Given the description of an element on the screen output the (x, y) to click on. 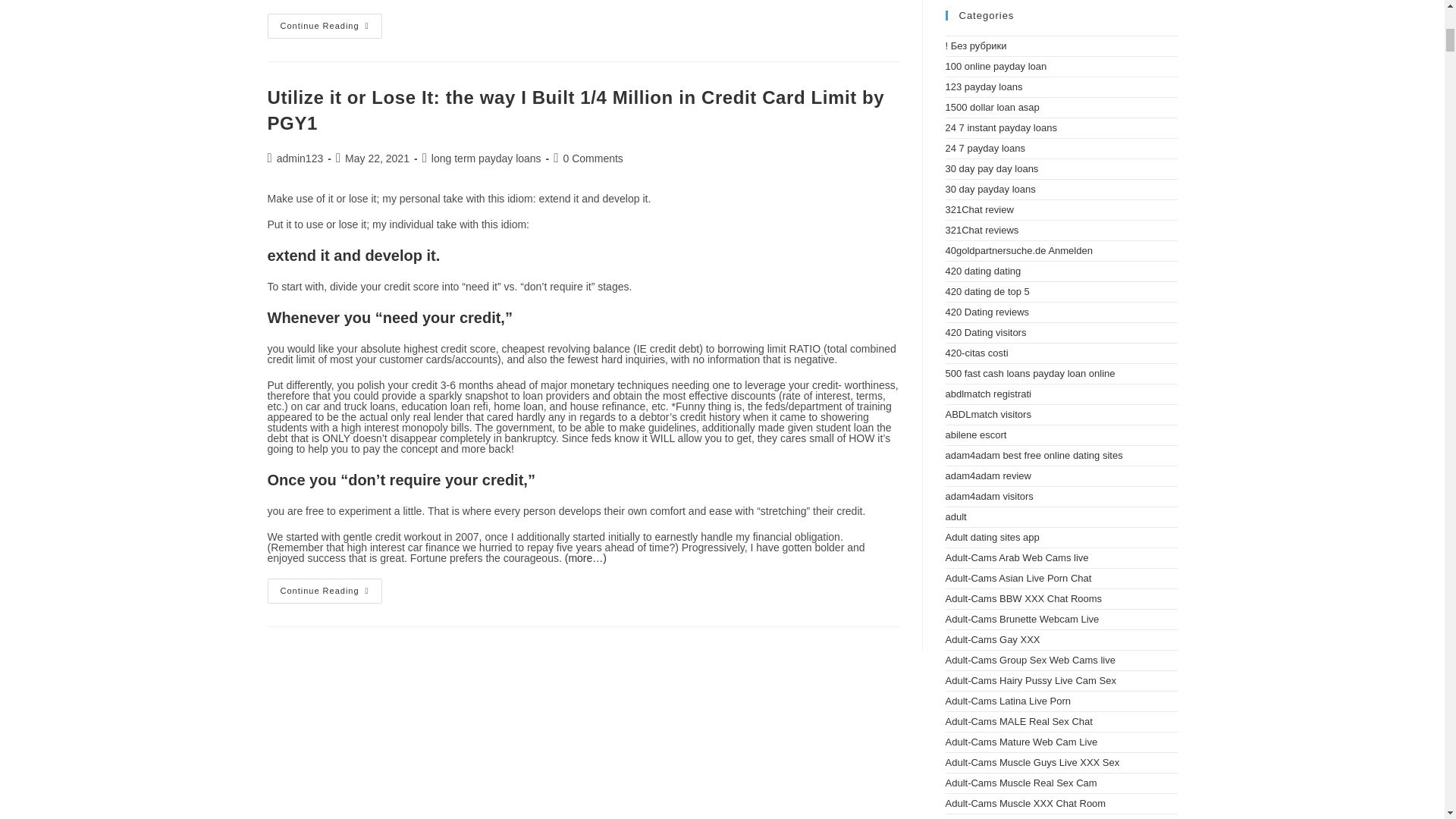
Continue Reading (323, 25)
admin123 (299, 158)
0 Comments (592, 158)
Continue Reading (323, 590)
Continue Reading (323, 25)
Continue Reading (323, 590)
long term payday loans (485, 158)
Posts by admin123 (299, 158)
